Given the description of an element on the screen output the (x, y) to click on. 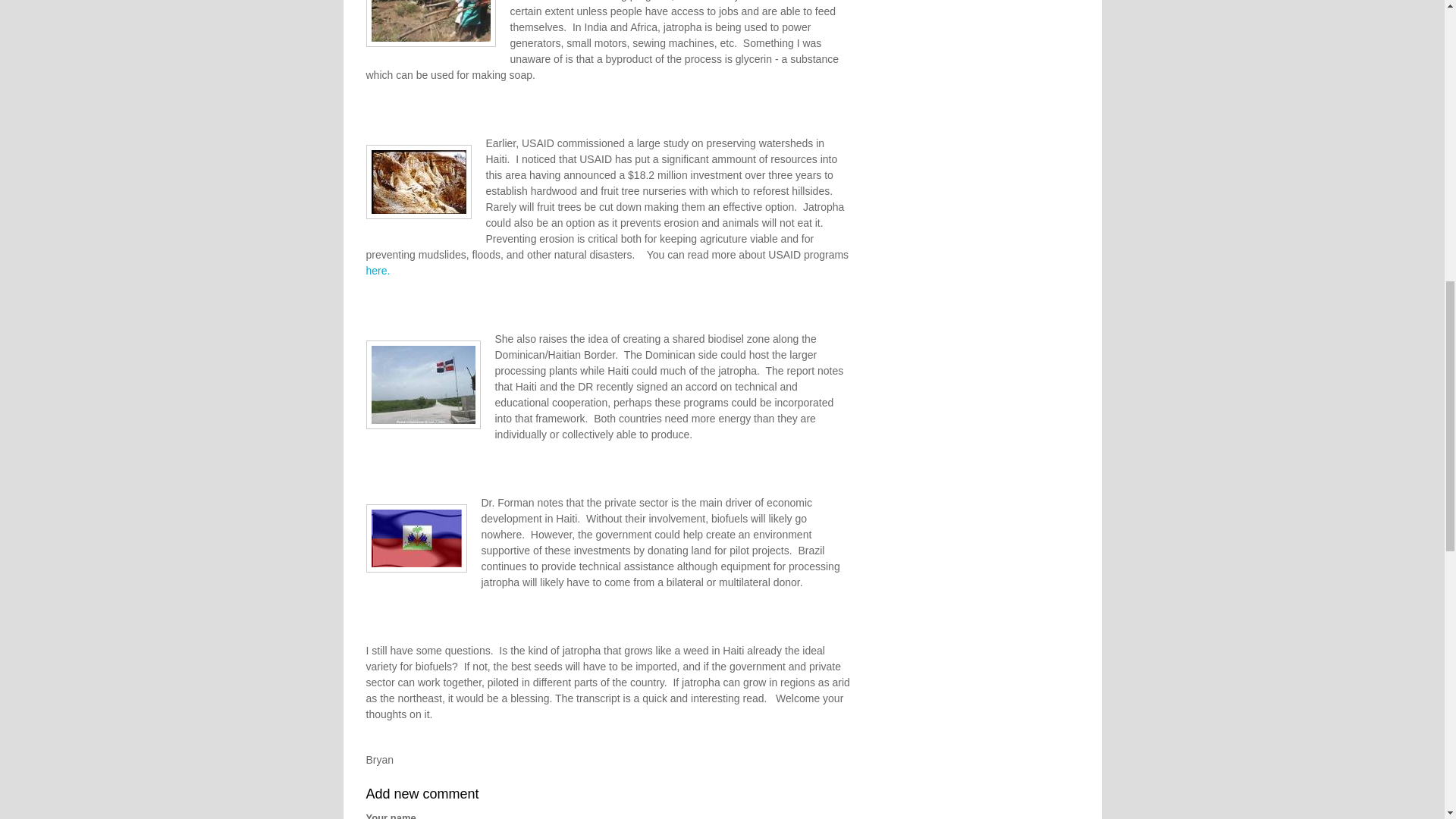
here. (377, 270)
